Given the description of an element on the screen output the (x, y) to click on. 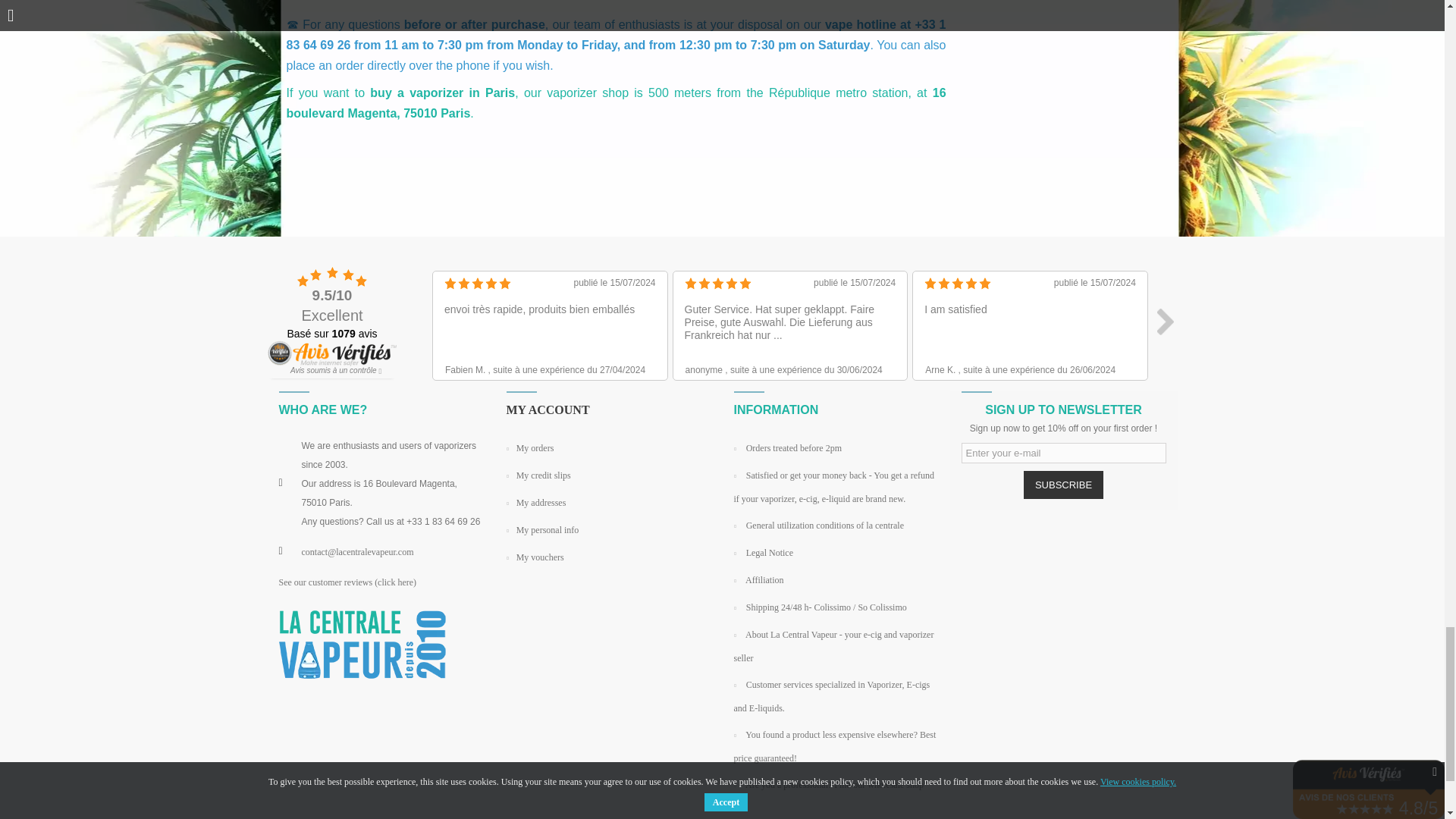
Enter your e-mail (1063, 453)
